Given the description of an element on the screen output the (x, y) to click on. 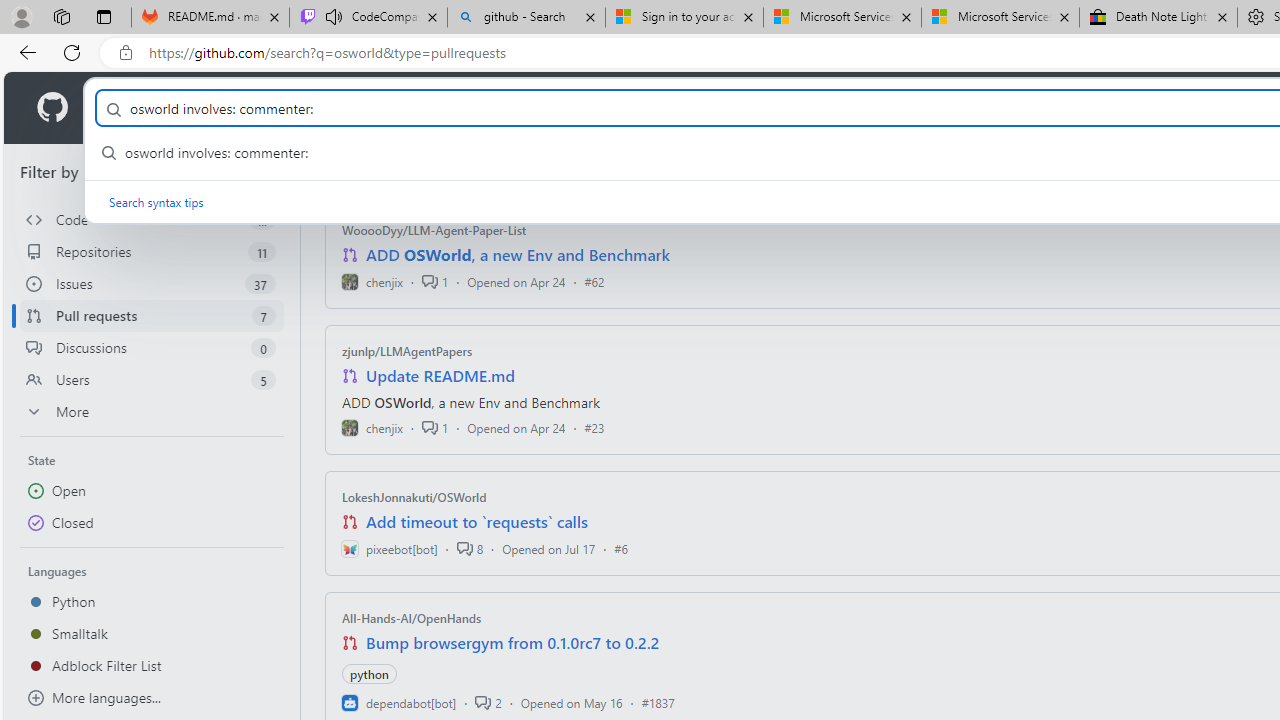
Solutions (225, 107)
ADD OSWorld, a new Env and Benchmark (517, 255)
Enterprise (563, 107)
#1837 (657, 702)
Pricing (649, 107)
Product (130, 107)
